Given the description of an element on the screen output the (x, y) to click on. 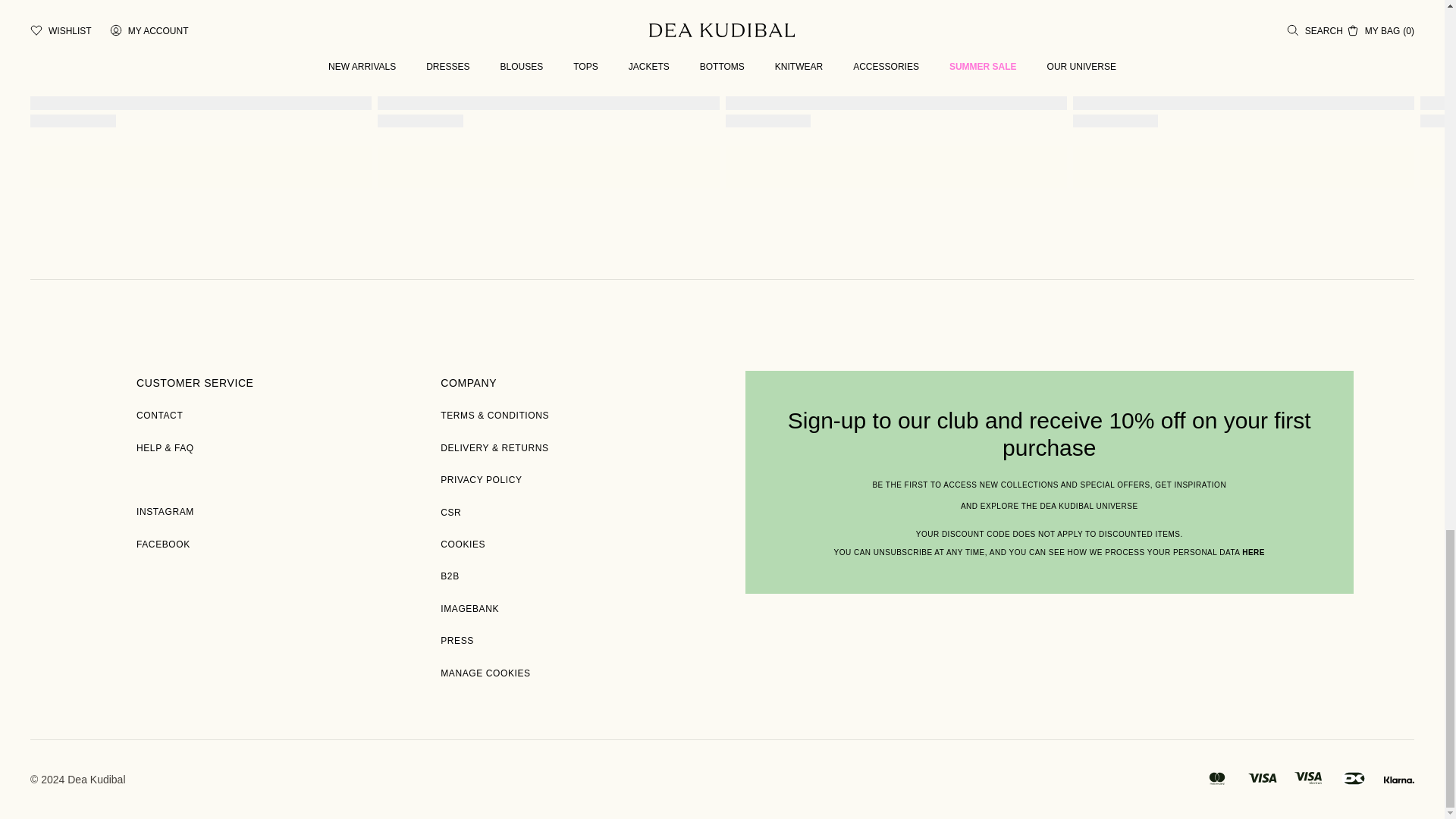
Contact us (159, 415)
